Given the description of an element on the screen output the (x, y) to click on. 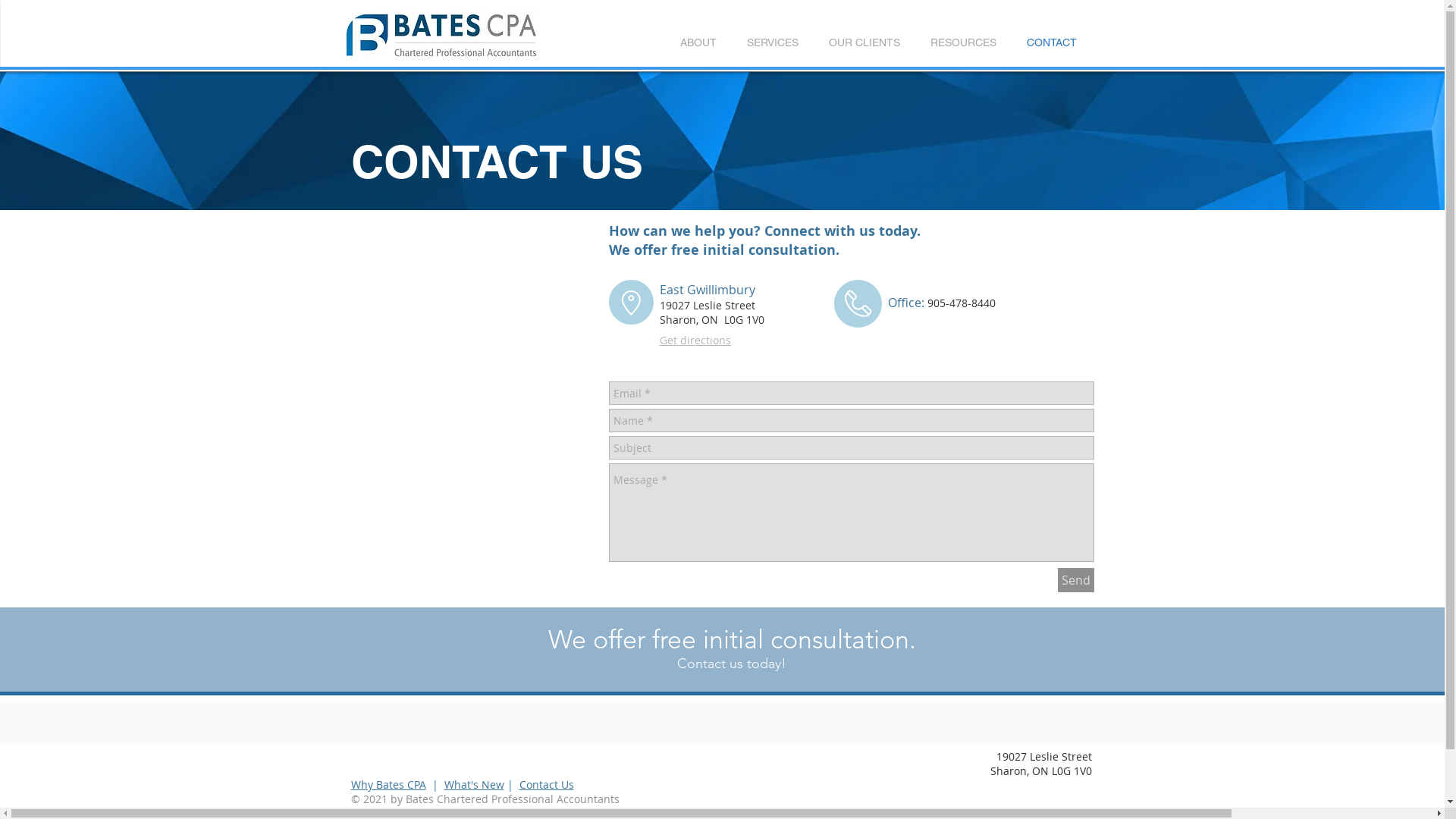
Google Maps Element type: hover (465, 387)
OUR CLIENTS Element type: text (863, 42)
Why Bates CPA Element type: text (387, 784)
What's New Element type: text (474, 784)
SERVICES Element type: text (771, 42)
Send Element type: text (1075, 579)
ABOUT Element type: text (697, 42)
Get directions Element type: text (695, 339)
CONTACT Element type: text (1051, 42)
RESOURCES Element type: text (962, 42)
Contact Us Element type: text (545, 784)
